Given the description of an element on the screen output the (x, y) to click on. 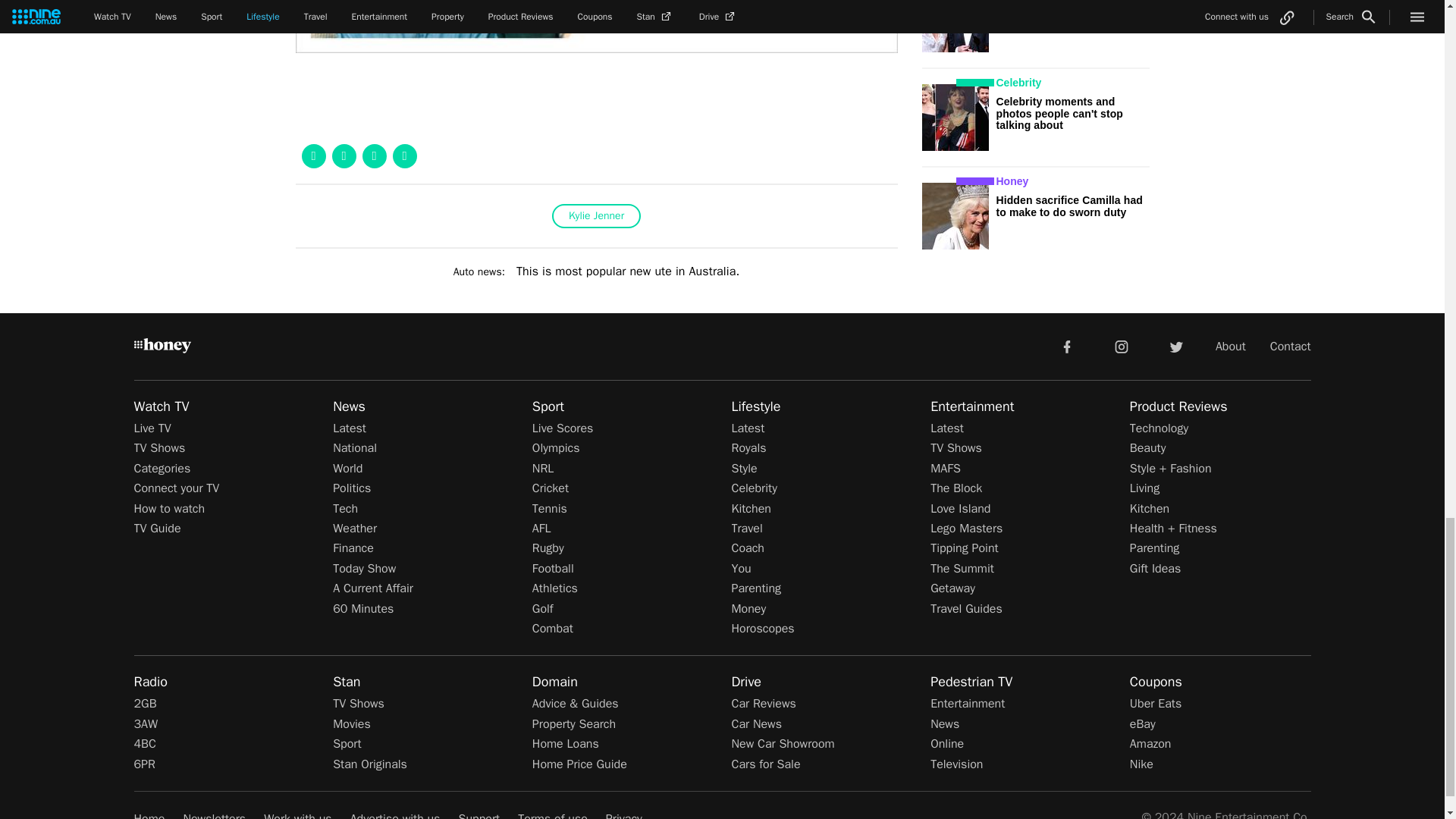
Kylie Jenner (595, 215)
instagram (1121, 345)
Auto news: This is most popular new ute in Australia. (596, 271)
twitter (1175, 345)
facebook (1066, 345)
